Given the description of an element on the screen output the (x, y) to click on. 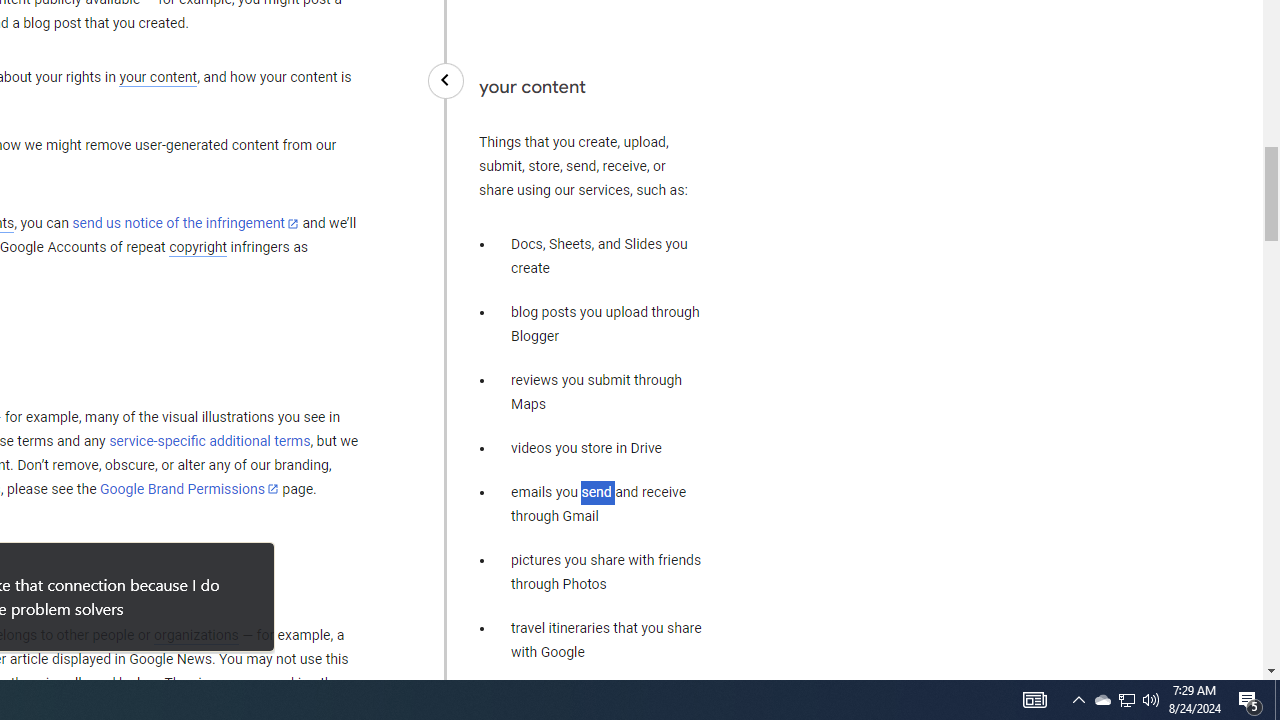
organizations (196, 635)
service-specific additional terms (209, 441)
copyright (197, 248)
your content (158, 78)
Google Brand Permissions (189, 489)
send us notice of the infringement (185, 224)
